Given the description of an element on the screen output the (x, y) to click on. 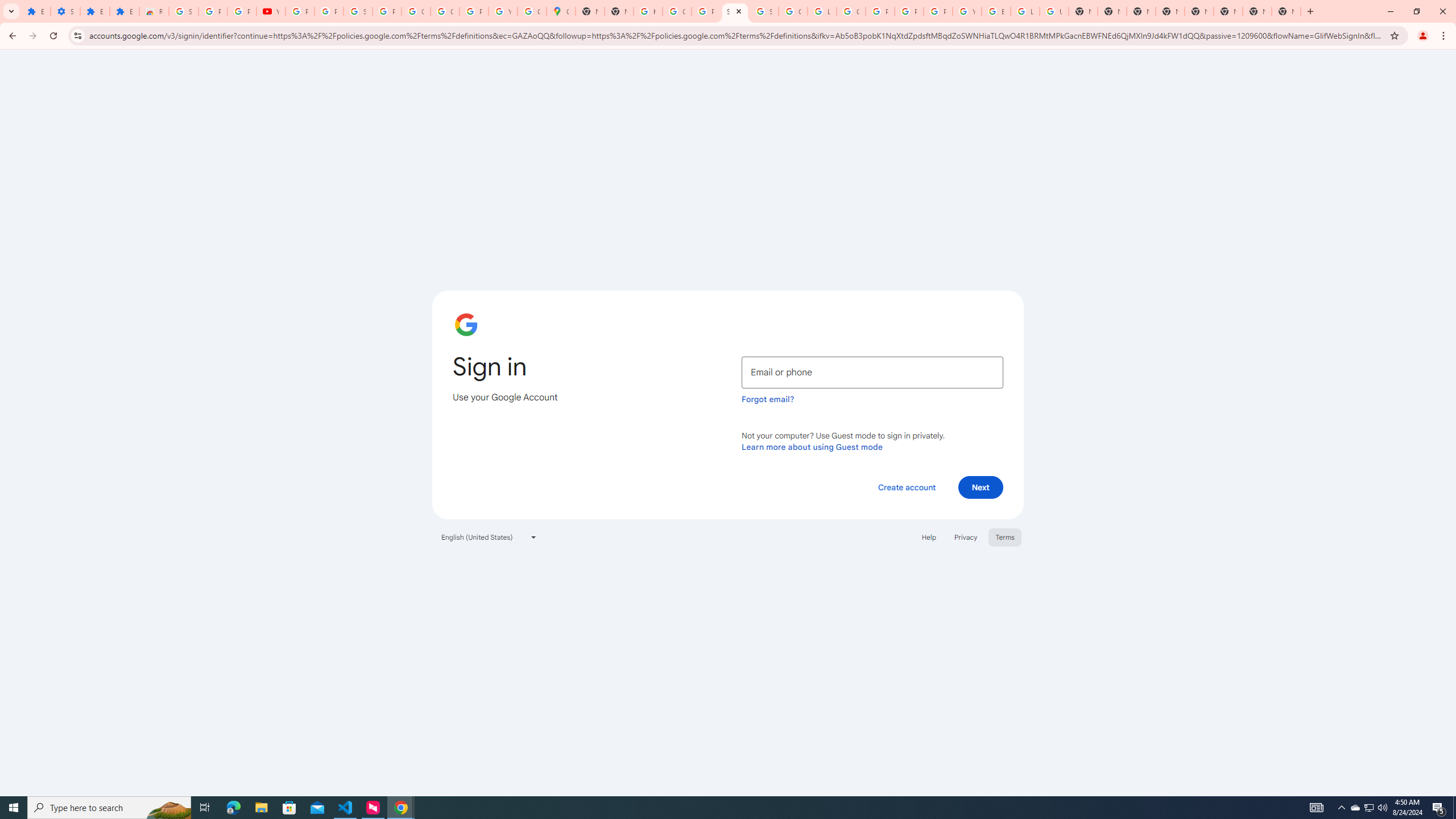
Privacy Help Center - Policies Help (879, 11)
Privacy Help Center - Policies Help (908, 11)
Email or phone (872, 372)
